Given the description of an element on the screen output the (x, y) to click on. 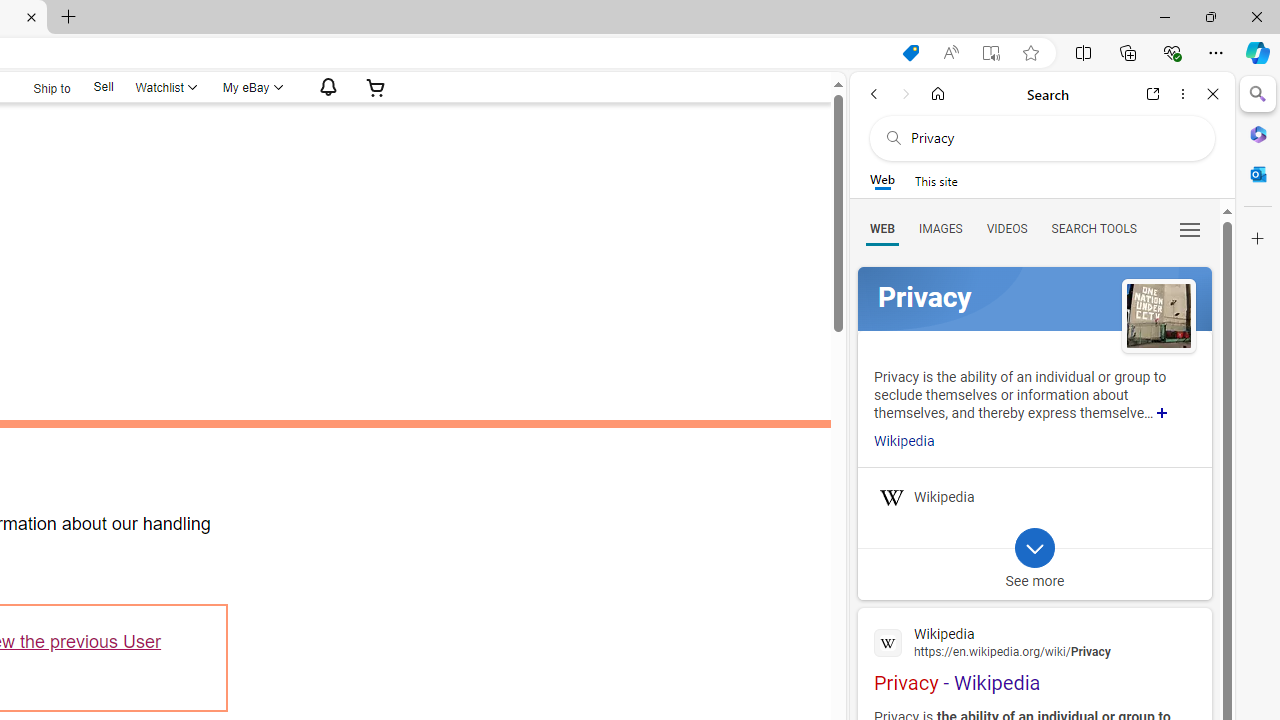
Customize (1258, 239)
Global web icon (888, 642)
Forward (906, 93)
Enter Immersive Reader (F9) (991, 53)
IMAGES (939, 228)
Privacy - Wikipedia (1034, 657)
See more images of Privacy (1158, 315)
Wikipedia (1034, 641)
Search Filter, IMAGES (939, 228)
